Given the description of an element on the screen output the (x, y) to click on. 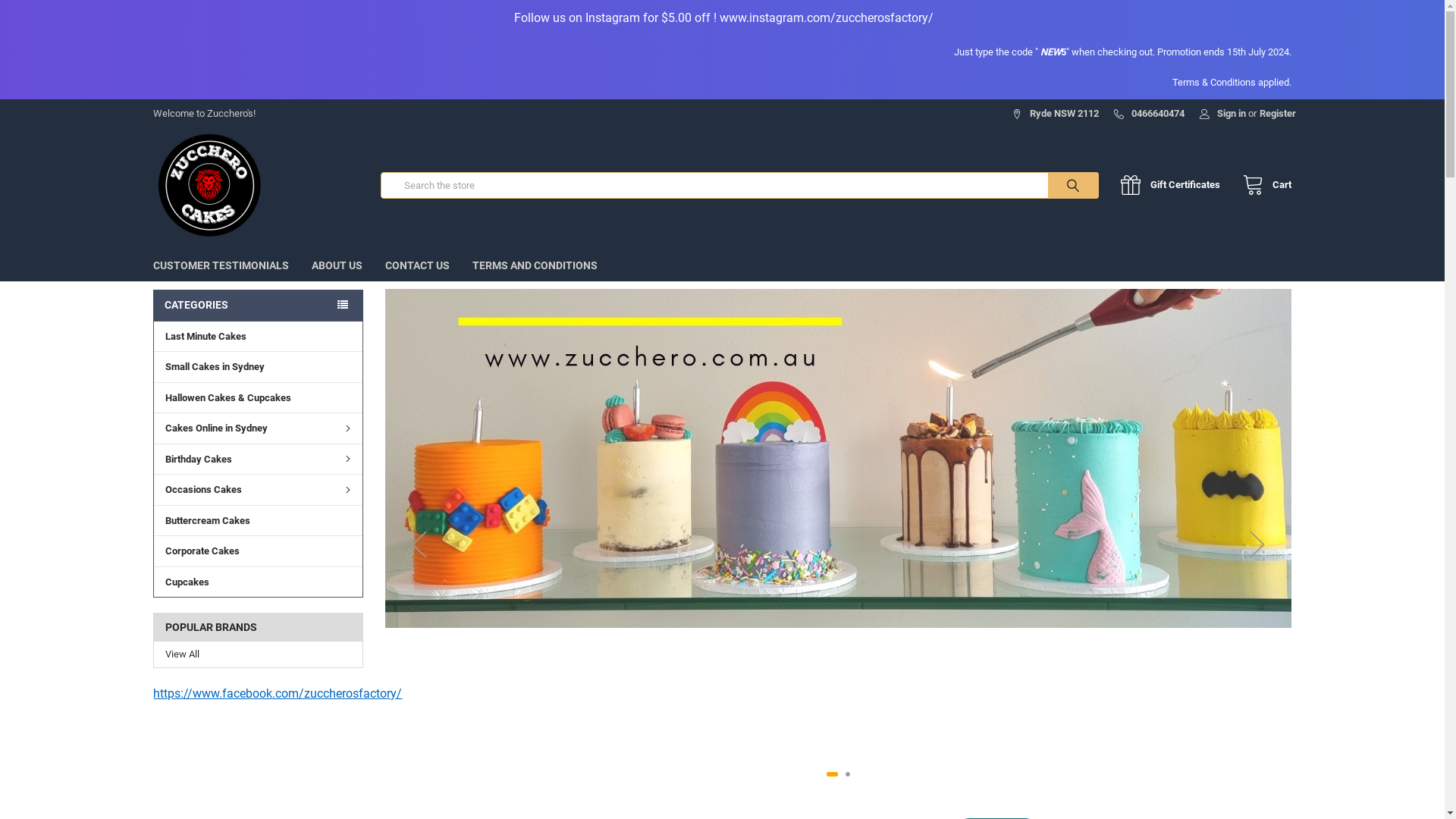
1 Element type: text (828, 773)
Last Minute Cakes Element type: text (257, 336)
View All Element type: text (257, 654)
Register Element type: text (1277, 109)
0466640474 Element type: text (1149, 109)
Hallowen Cakes & Cupcakes Element type: text (257, 397)
Zucchero's Element type: hover (209, 184)
Birthday Cakes Element type: text (257, 458)
Gift Certificates Element type: text (1173, 184)
Search Element type: text (1056, 185)
2 Element type: text (844, 773)
CUSTOMER TESTIMONIALS Element type: text (220, 265)
Sign in Element type: text (1222, 109)
ABOUT US Element type: text (336, 265)
Cupcakes Element type: text (257, 581)
BUY NOW!!! Element type: text (838, 543)
Small Cakes in Sydney Element type: text (257, 366)
Next Element type: text (1257, 543)
Corporate Cakes Element type: text (257, 550)
Cart Element type: text (1263, 184)
CATEGORIES Element type: text (257, 304)
https://www.facebook.com/zuccherosfactory/ Element type: text (277, 693)
Cakes Online in Sydney Element type: text (257, 427)
Buttercream Cakes Element type: text (257, 520)
TERMS AND CONDITIONS Element type: text (534, 265)
Previous Element type: text (419, 543)
CONTACT US Element type: text (417, 265)
Occasions Cakes Element type: text (257, 488)
